Given the description of an element on the screen output the (x, y) to click on. 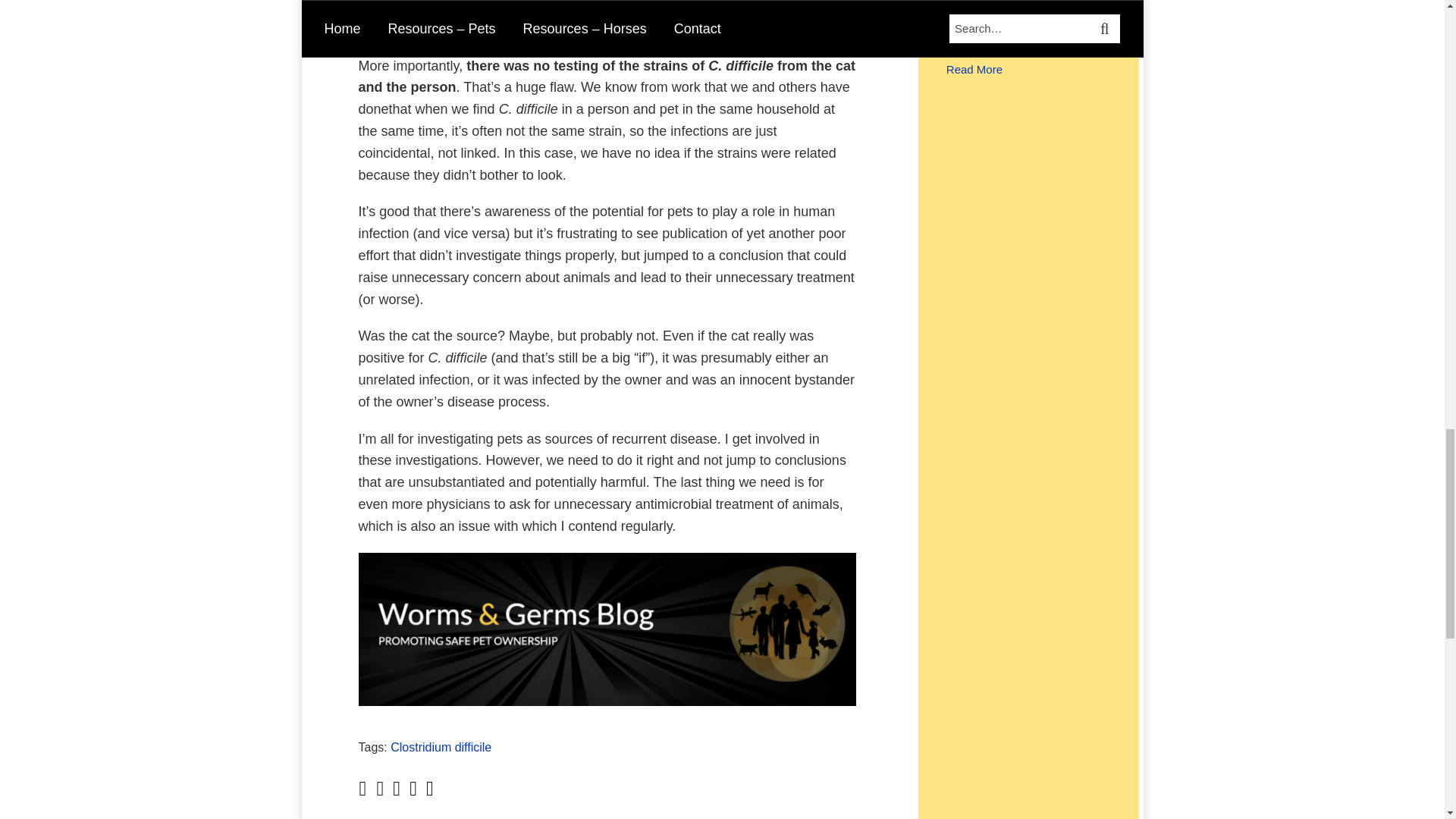
Clostridium difficile (441, 747)
